Given the description of an element on the screen output the (x, y) to click on. 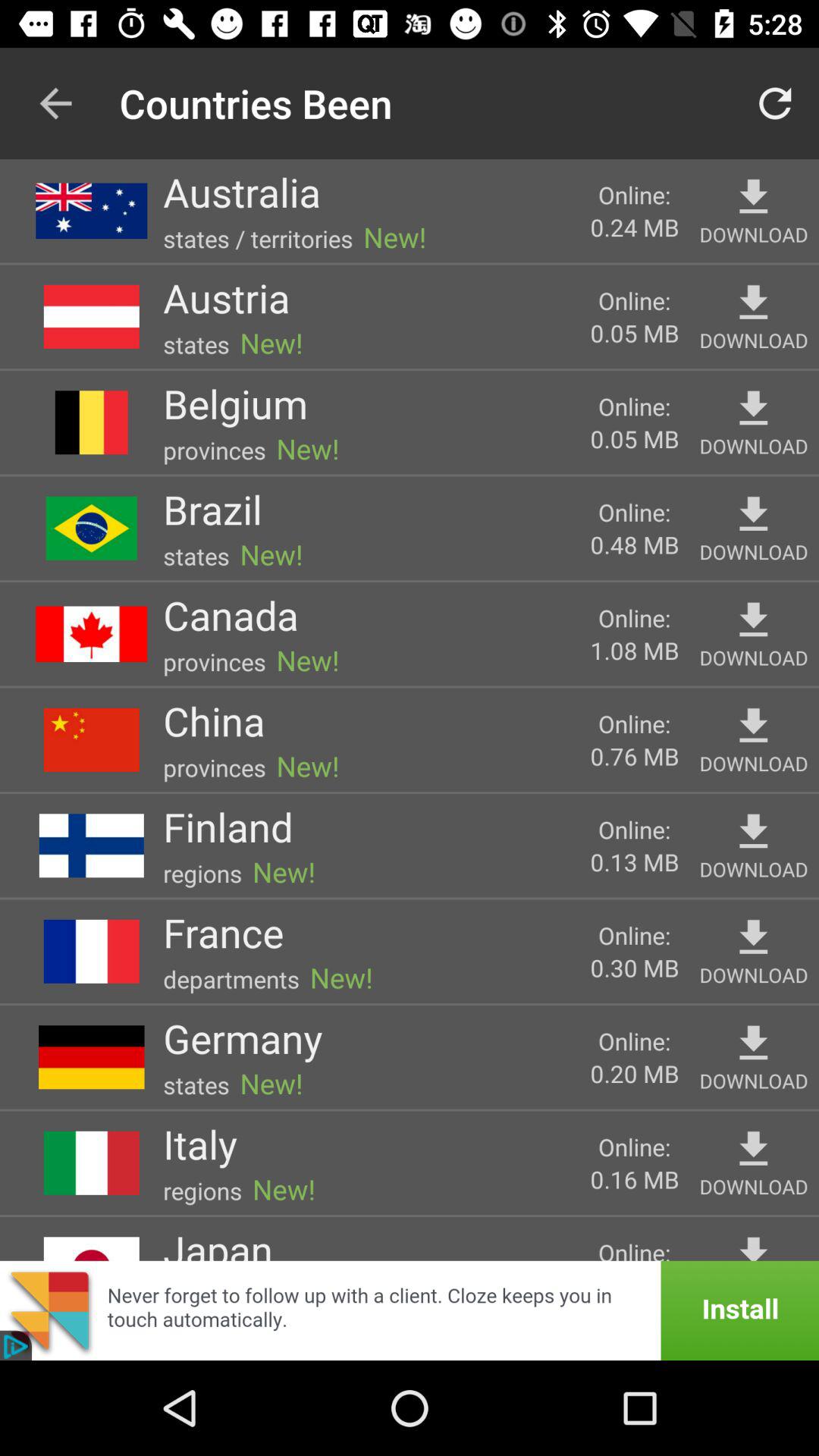
download canada map (753, 620)
